Given the description of an element on the screen output the (x, y) to click on. 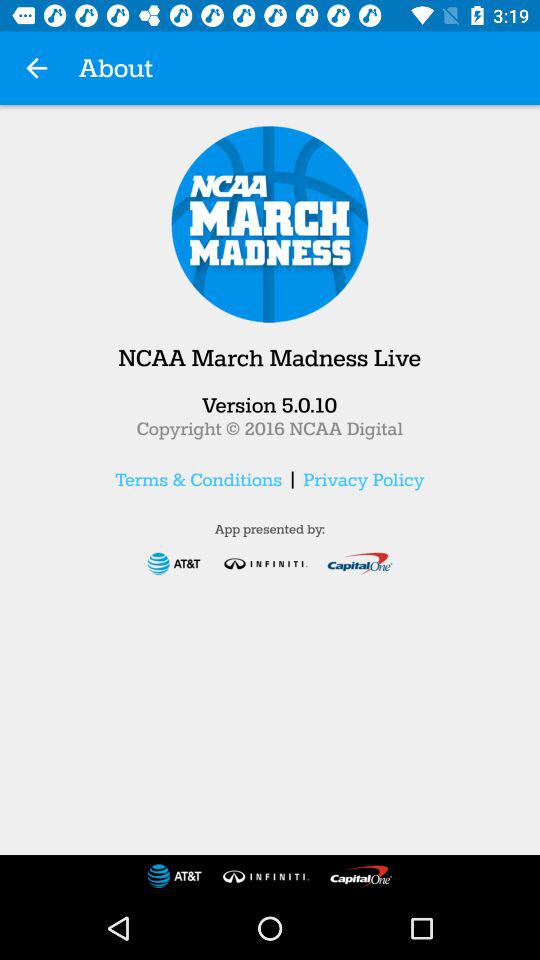
press the icon next to  |  item (363, 479)
